Given the description of an element on the screen output the (x, y) to click on. 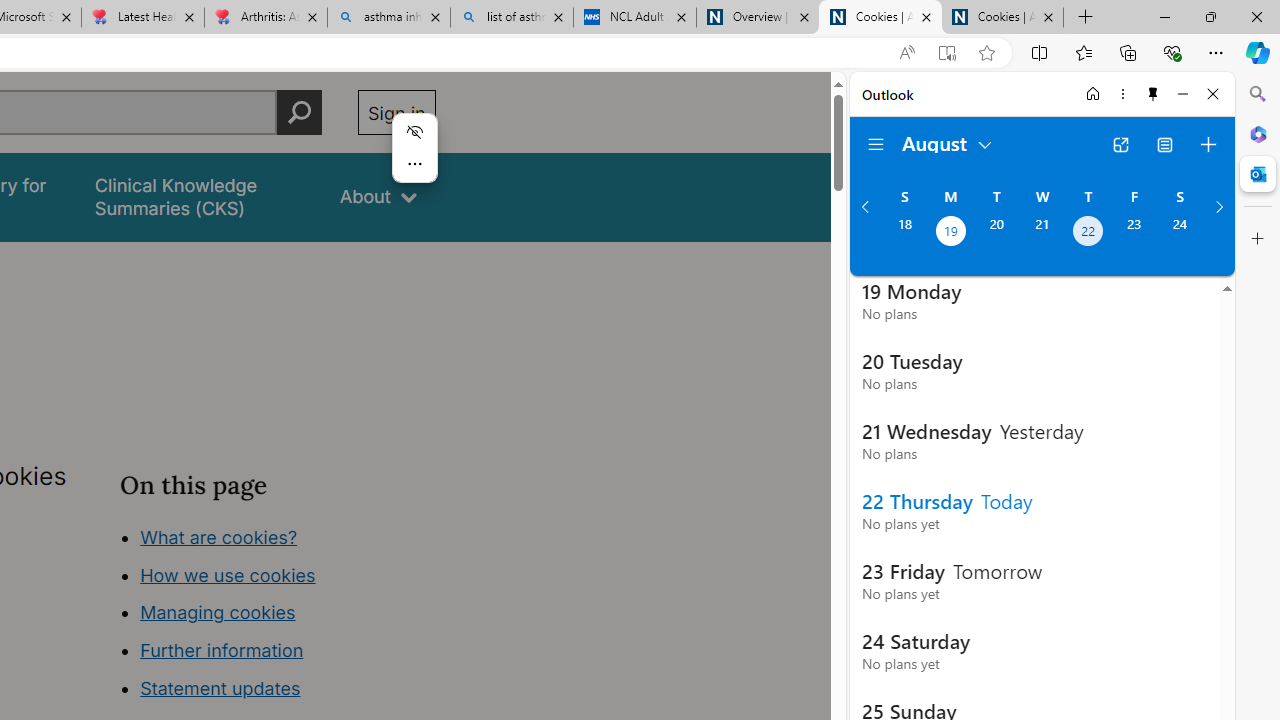
Wednesday, August 21, 2024.  (1042, 233)
More actions (414, 164)
How we use cookies (227, 574)
Class: in-page-nav__list (277, 615)
asthma inhaler - Search (388, 17)
Create event (1208, 144)
